Given the description of an element on the screen output the (x, y) to click on. 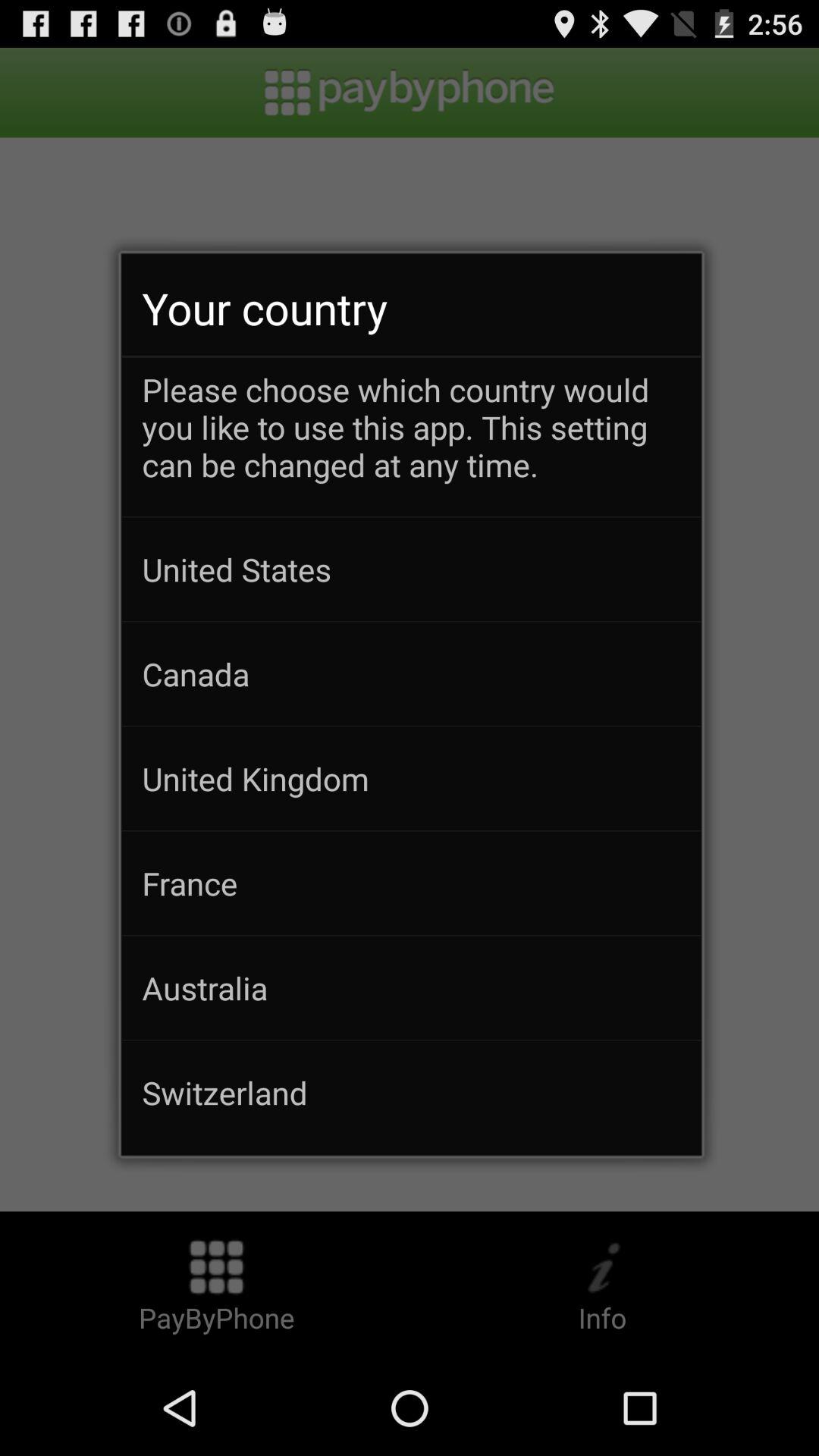
choose france icon (411, 883)
